Given the description of an element on the screen output the (x, y) to click on. 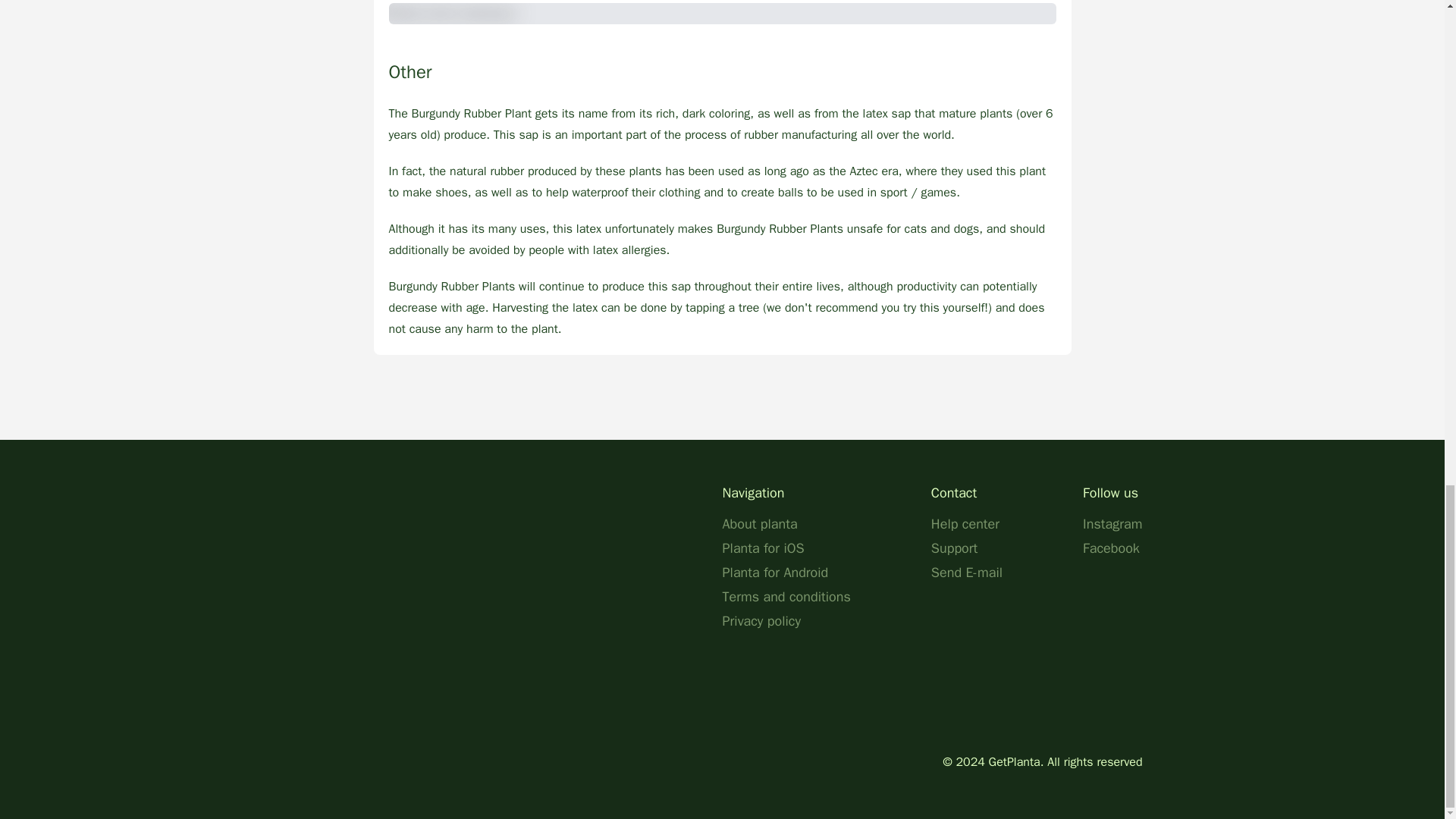
Help center (964, 523)
Planta for iOS (762, 547)
Terms and conditions (786, 596)
Support (953, 547)
Send E-mail (967, 572)
Facebook (1111, 547)
About planta (759, 523)
Planta for Android (775, 572)
Privacy policy (761, 620)
Instagram (1112, 523)
